Given the description of an element on the screen output the (x, y) to click on. 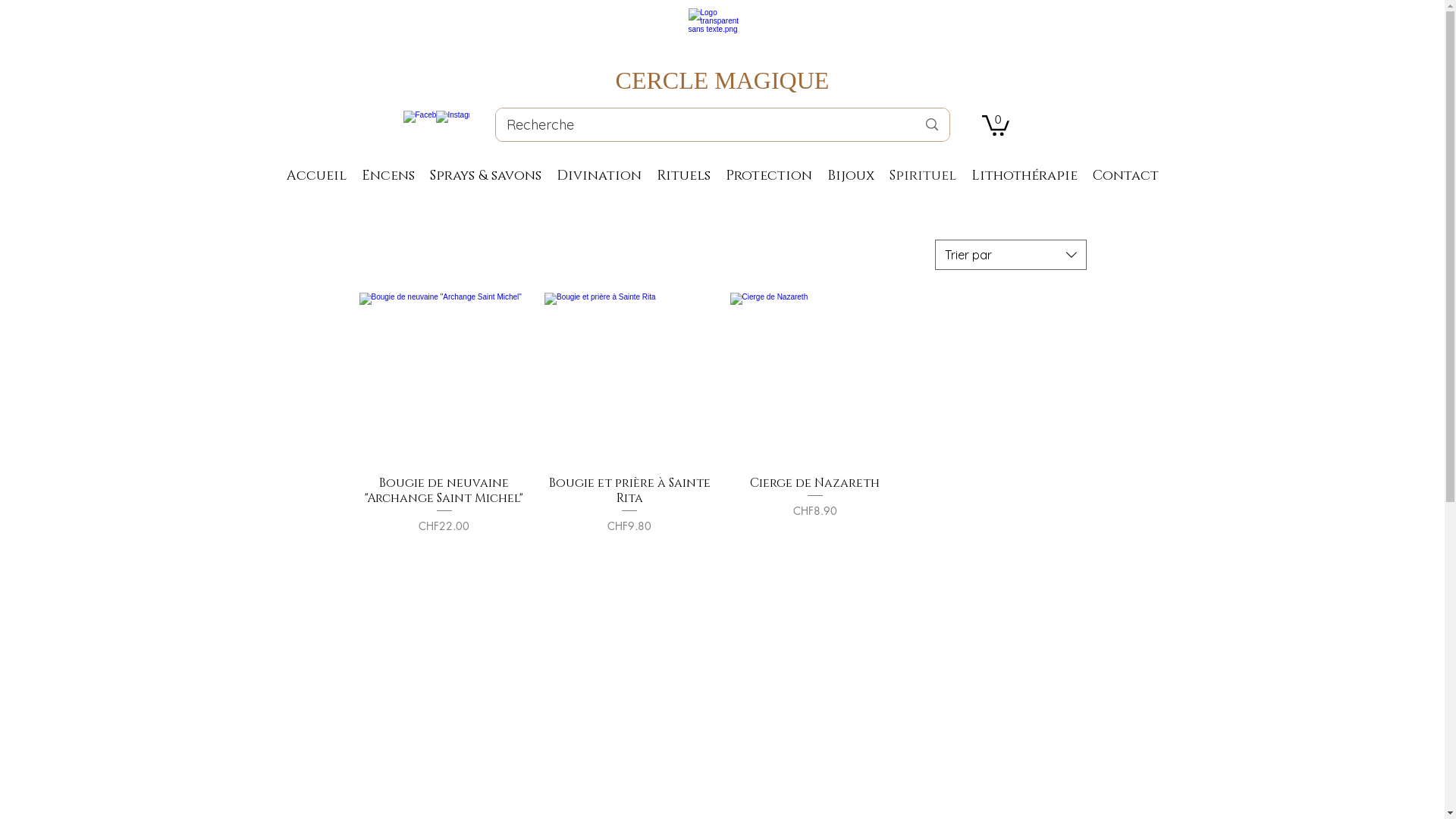
Rituels Element type: text (683, 175)
Encens Element type: text (388, 175)
Spirituel Element type: text (922, 175)
Divination Element type: text (599, 175)
Contact Element type: text (1125, 175)
Bijoux Element type: text (850, 175)
CERCLE MAGIQUE Element type: text (722, 79)
0 Element type: text (994, 123)
Protection Element type: text (768, 175)
Accueil Element type: text (316, 175)
Cierge de Nazareth
Prix
CHF8.90 Element type: text (814, 504)
Trier par Element type: text (1009, 254)
Sprays & savons Element type: text (485, 175)
Bougie de neuvaine "Archange Saint Michel"
Prix
CHF22.00 Element type: text (444, 504)
